Given the description of an element on the screen output the (x, y) to click on. 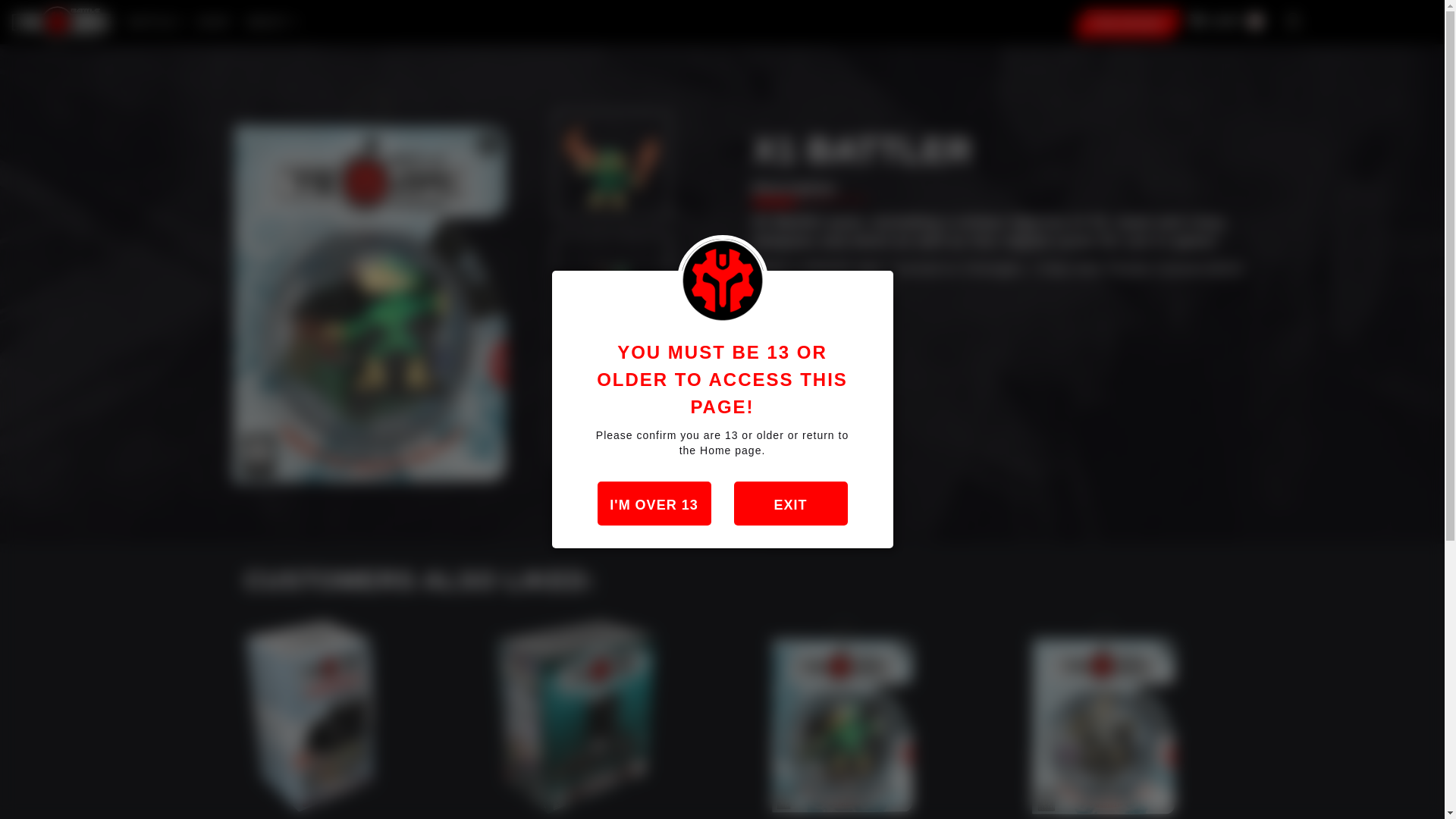
PREORDER (1220, 24)
SHOP (1128, 23)
1 (213, 22)
